Given the description of an element on the screen output the (x, y) to click on. 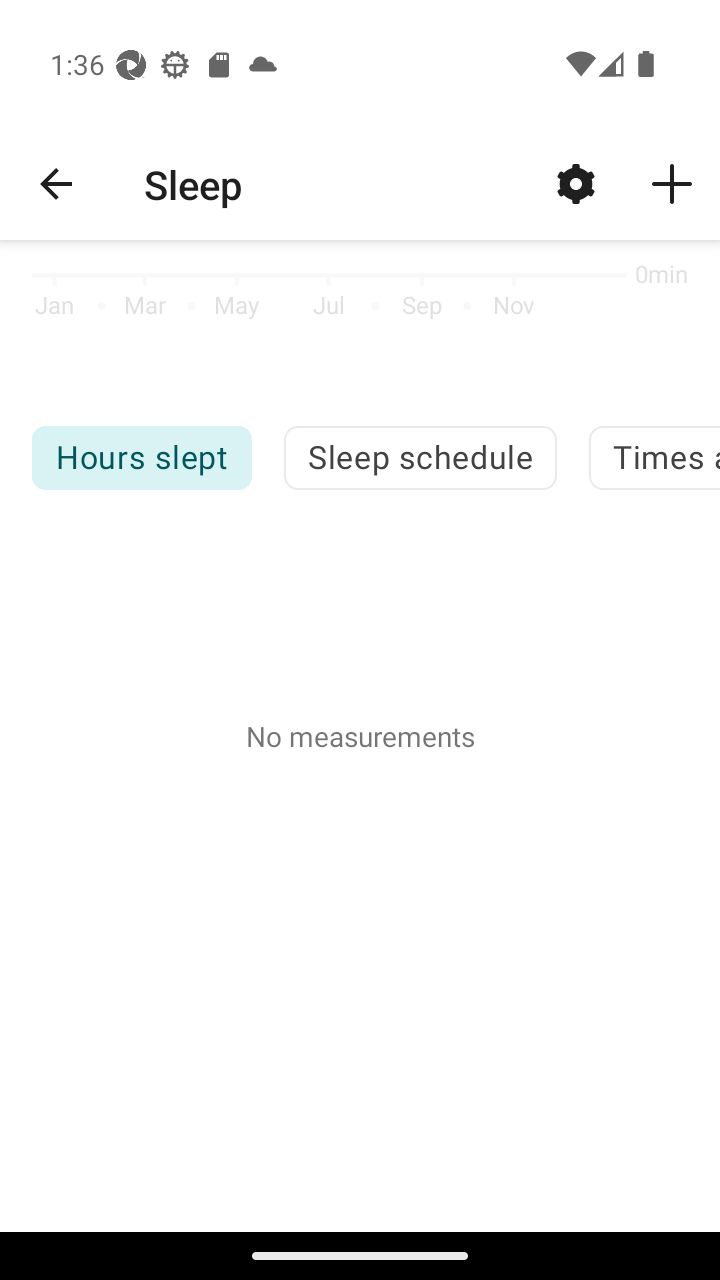
Navigate up (56, 184)
Adjust your goal (575, 183)
Tap to track sleep or
 log a past record (672, 183)
Hours slept (141, 457)
Sleep schedule (420, 457)
Times awakened (654, 457)
